Given the description of an element on the screen output the (x, y) to click on. 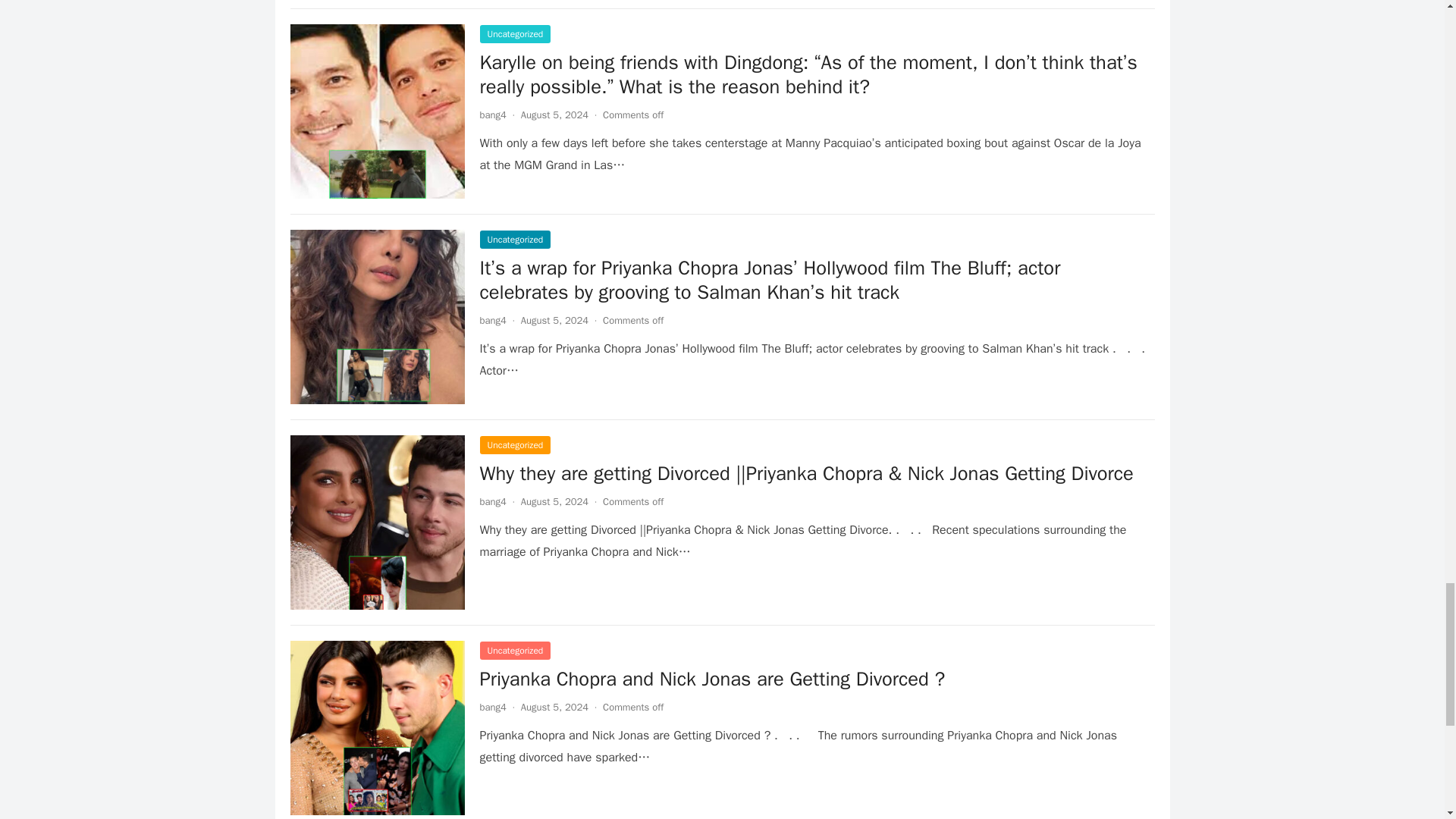
Posts by bang4 (492, 319)
Posts by bang4 (492, 707)
Posts by bang4 (492, 114)
Posts by bang4 (492, 501)
